Given the description of an element on the screen output the (x, y) to click on. 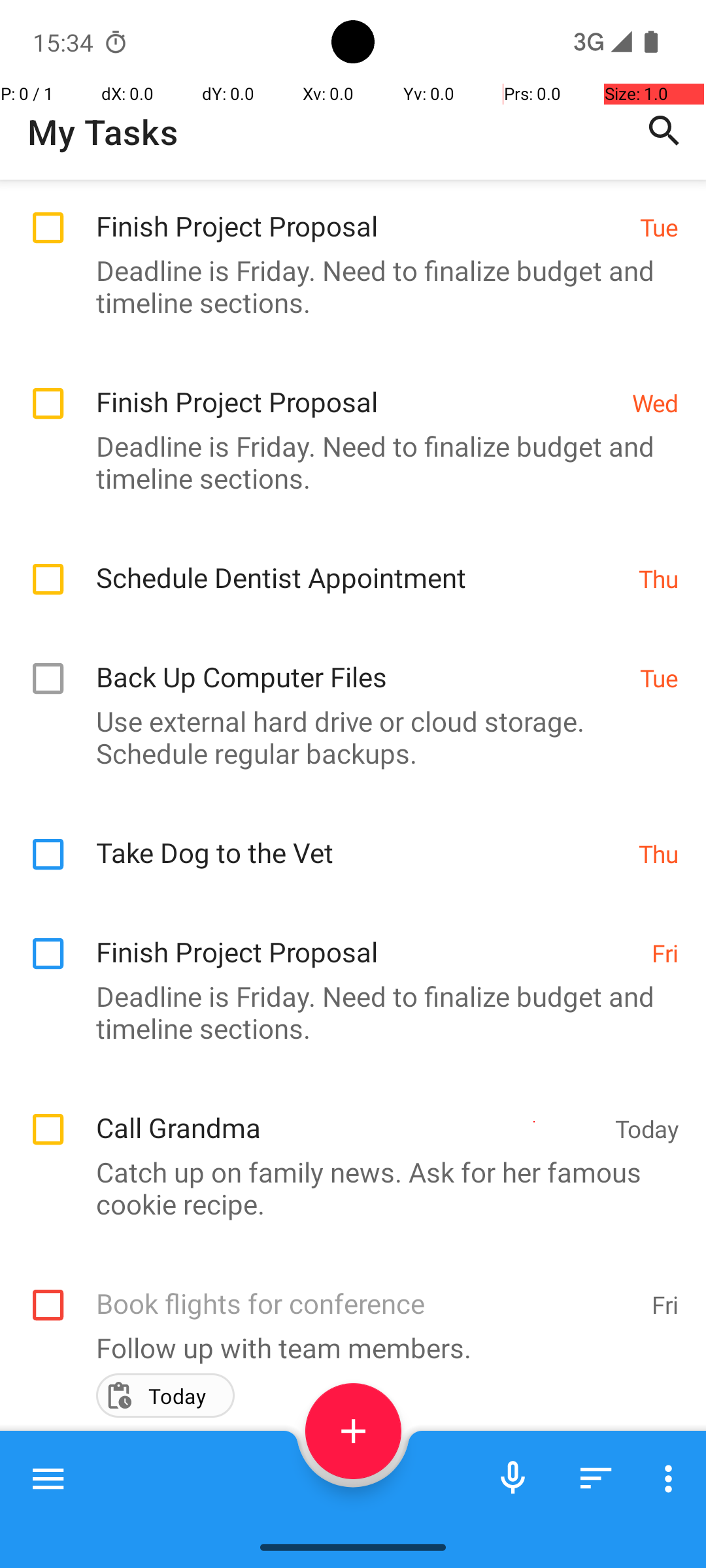
Follow up with team members. Element type: android.widget.TextView (346, 1347)
